Given the description of an element on the screen output the (x, y) to click on. 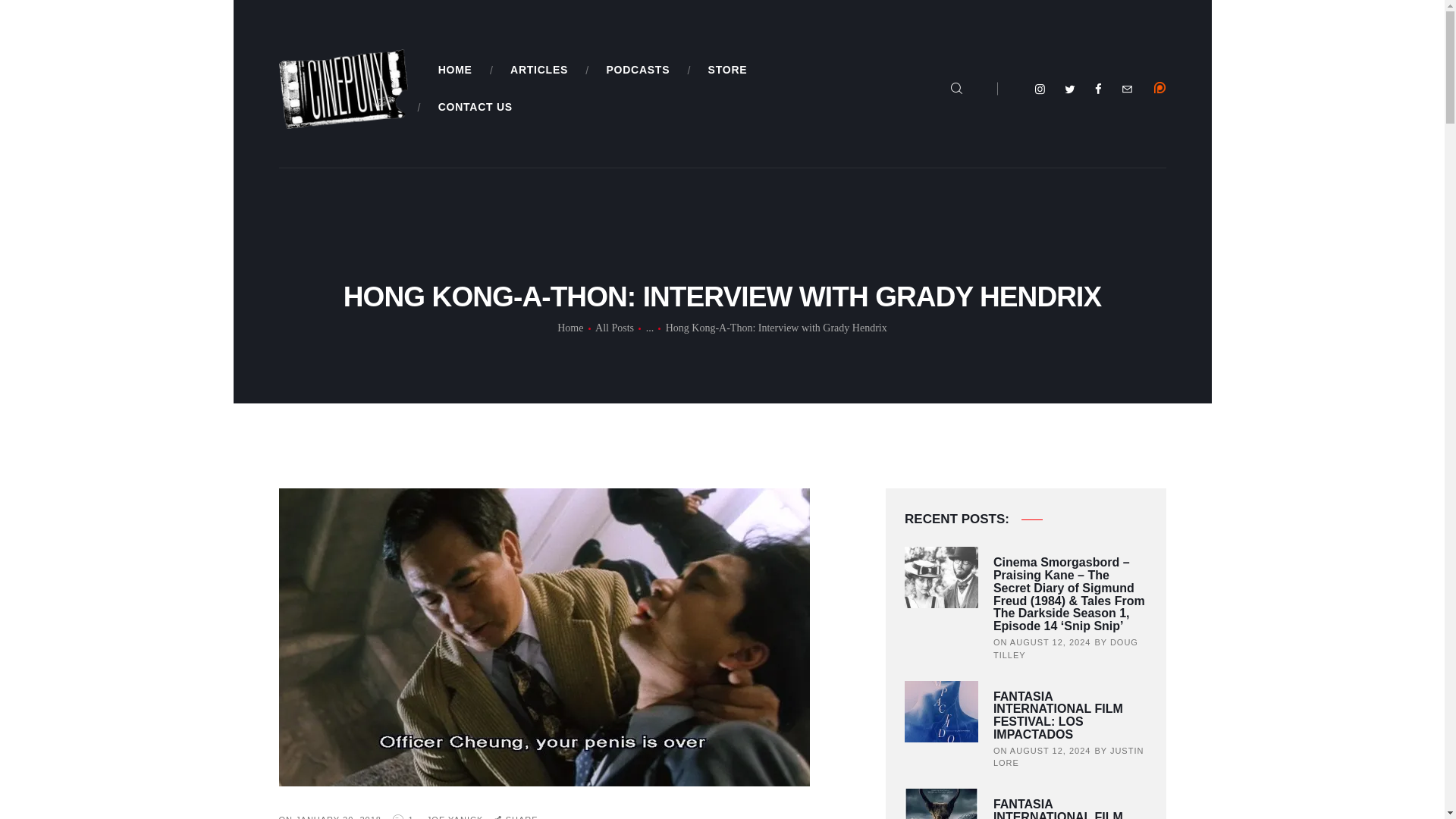
STORE (726, 69)
All Posts (614, 327)
58481774cef1014c0b5e4992 (1160, 87)
PODCASTS (637, 69)
HOME (454, 69)
ARTICLES (539, 69)
Home (570, 327)
CONTACT US (475, 107)
